Given the description of an element on the screen output the (x, y) to click on. 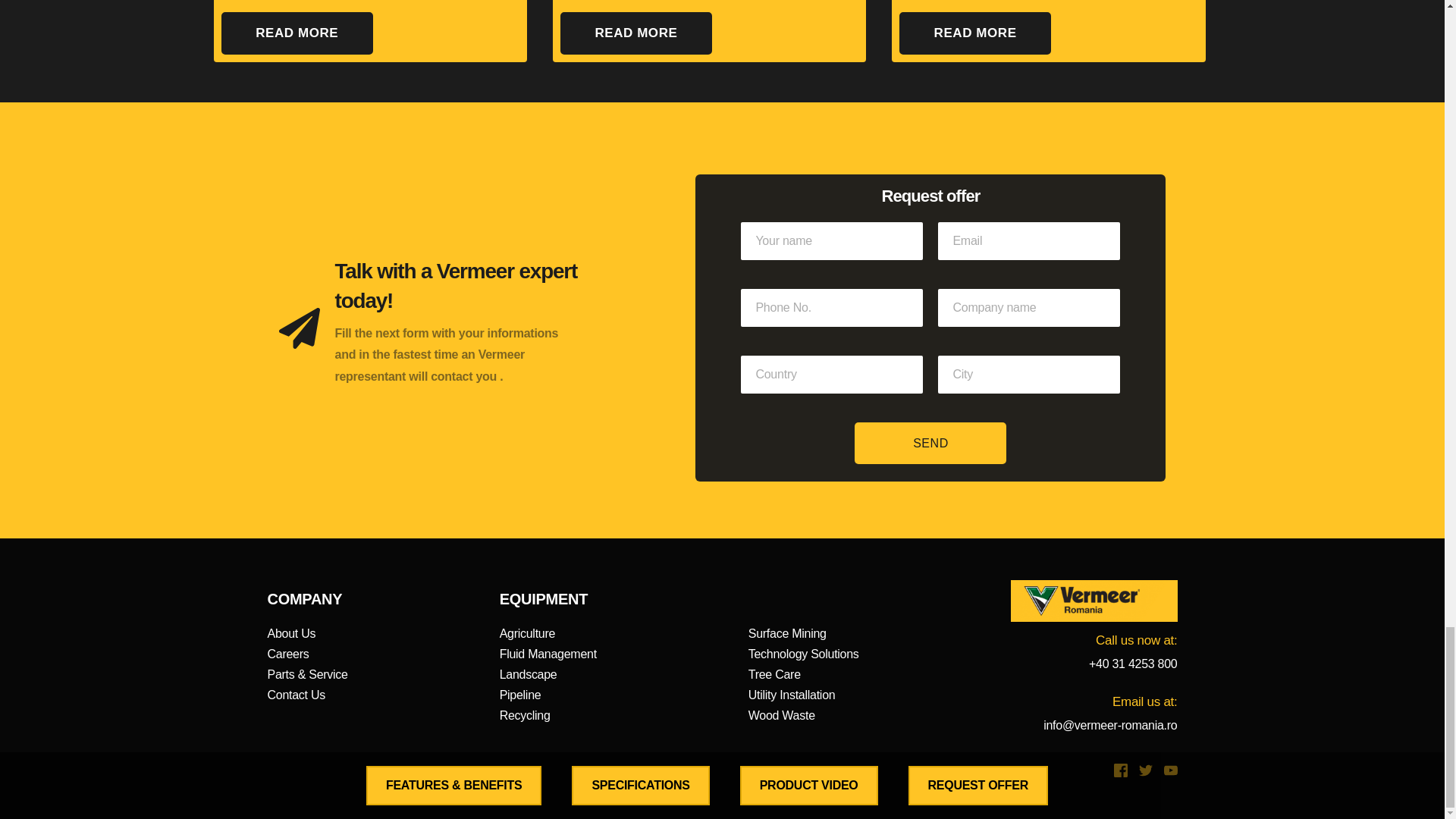
Send (930, 443)
